Given the description of an element on the screen output the (x, y) to click on. 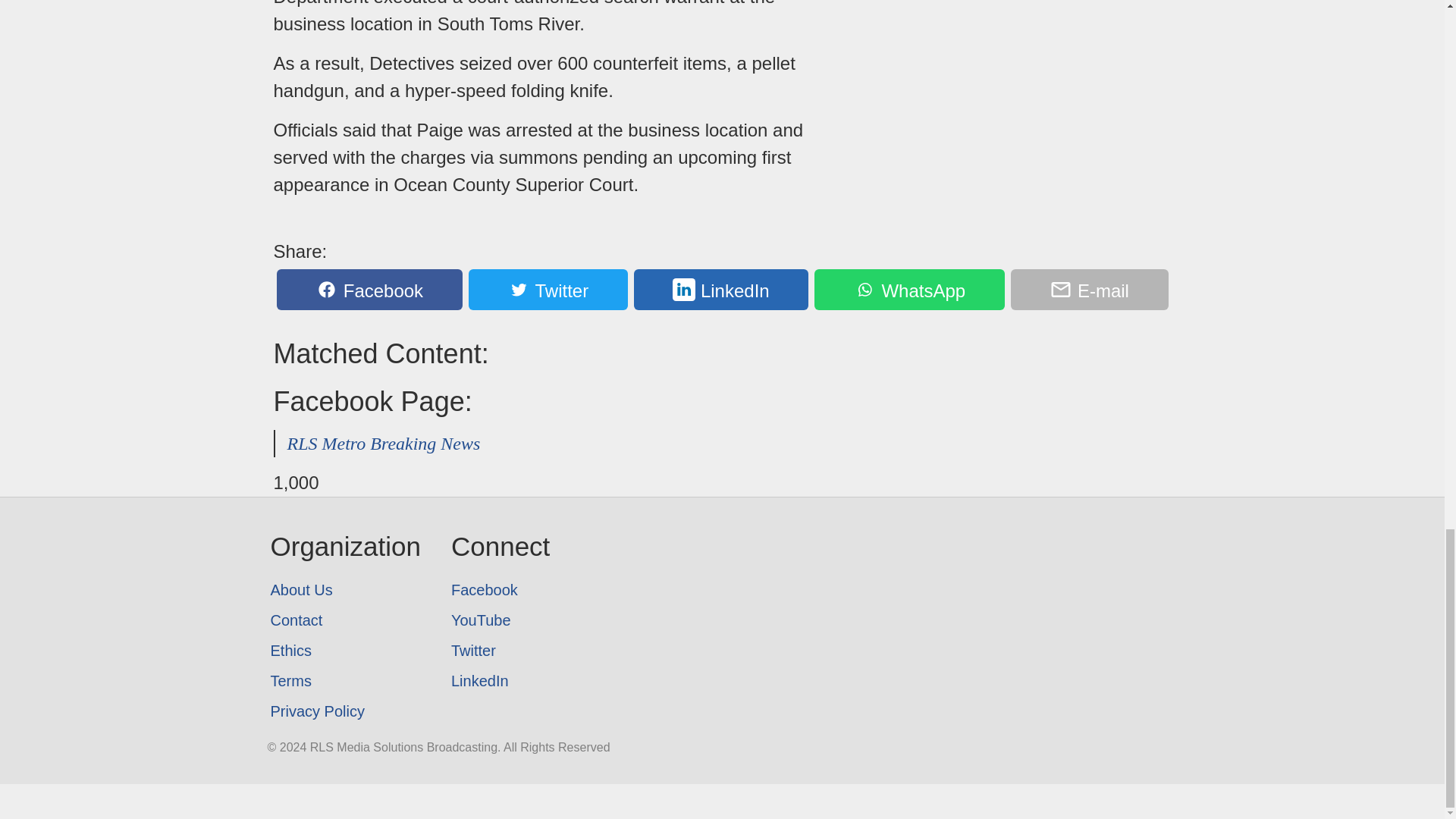
Twitter Account (500, 650)
Facebook (368, 289)
YouTube (500, 620)
Privacy Policy (344, 711)
Facebook Page (500, 589)
LinkedIn (500, 680)
Twitter (547, 289)
Terms (344, 680)
Ethics Code (344, 650)
Contact (344, 620)
Ethics (344, 650)
E-mail (1089, 289)
About Us (344, 589)
RLS Metro Breaking News (383, 443)
LinkedIn Business Page (500, 680)
